Given the description of an element on the screen output the (x, y) to click on. 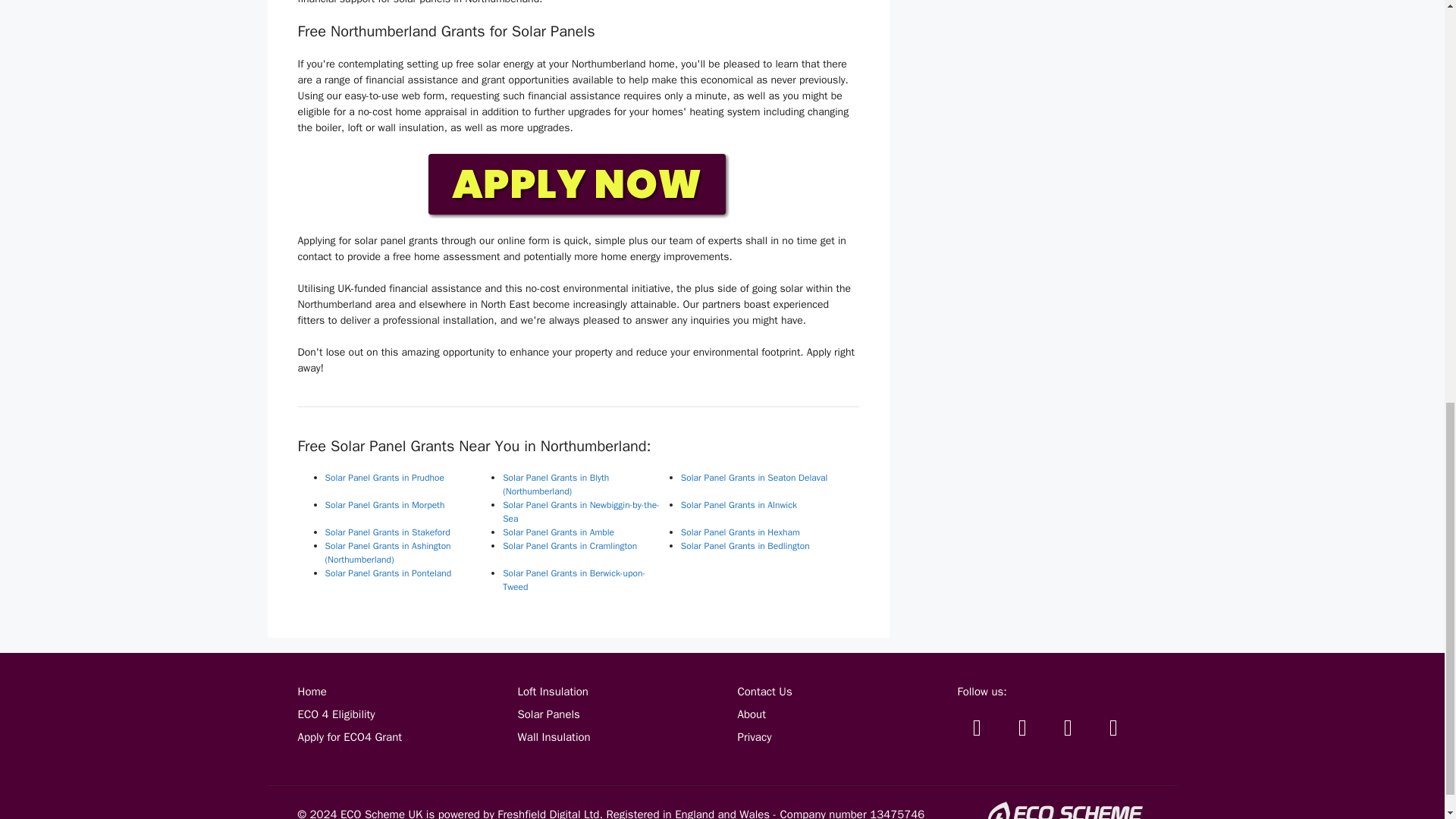
ecoschemeuk.com (1066, 809)
Solar Panel Grants in Cramlington (569, 545)
Solar Panel Grants in Newbiggin-by-the-Sea (580, 511)
Solar Panel Grants in Seaton Delaval (754, 477)
Home (311, 691)
Twitter (975, 727)
Solar Panel Grants in Morpeth (384, 504)
Solar Panel Grants in Prudhoe (384, 477)
Solar Panel Grants in Ponteland (387, 573)
Solar Panel Grants in Alnwick (738, 504)
YouTube (1067, 727)
Wall Insulation (552, 736)
Solar Panel Grants in Berwick-upon-Tweed (573, 579)
LinkedIn (1112, 727)
Solar Panel Grants in Bedlington (745, 545)
